Given the description of an element on the screen output the (x, y) to click on. 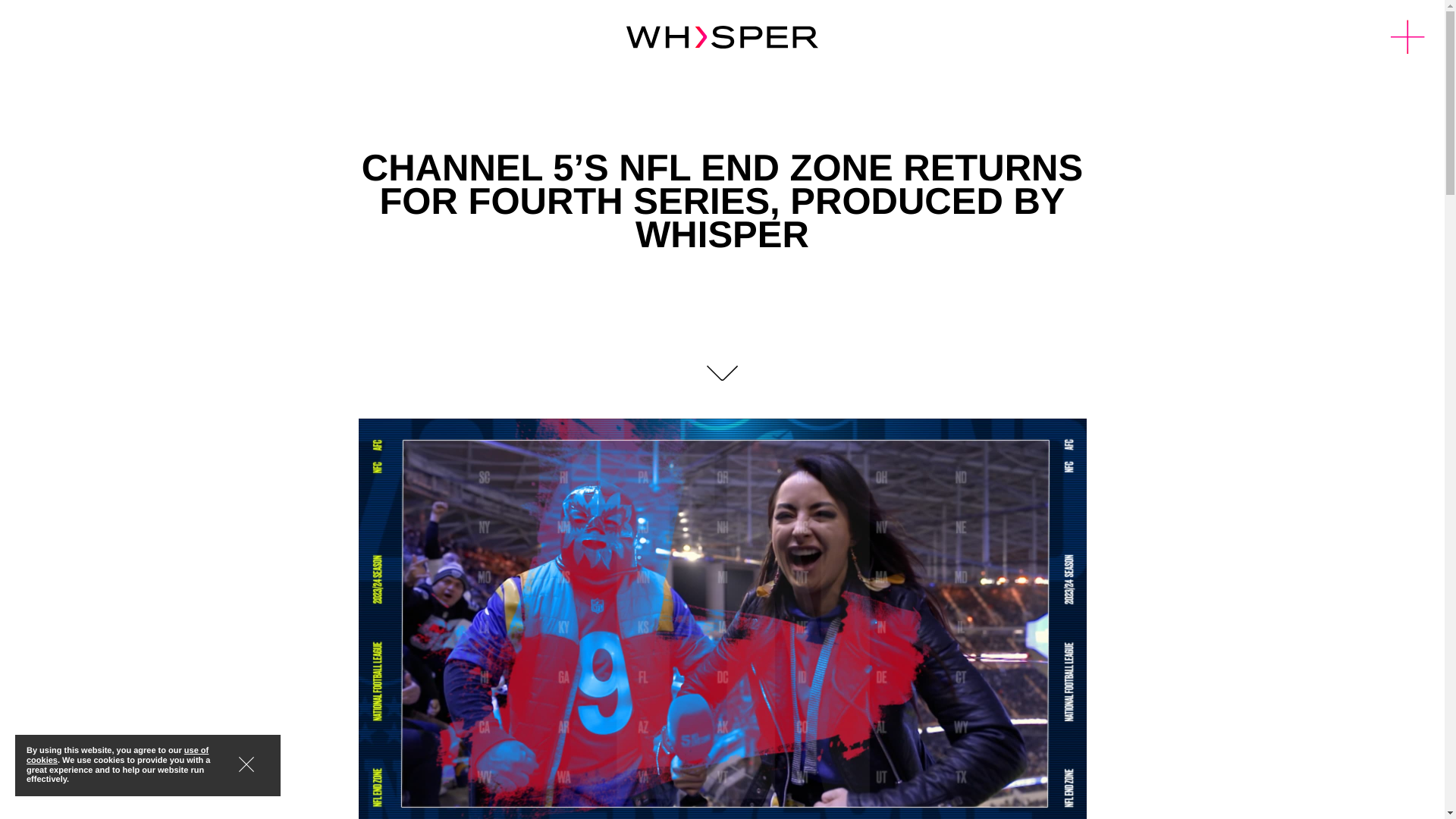
Open Menu (1407, 37)
use of cookies (117, 755)
